Given the description of an element on the screen output the (x, y) to click on. 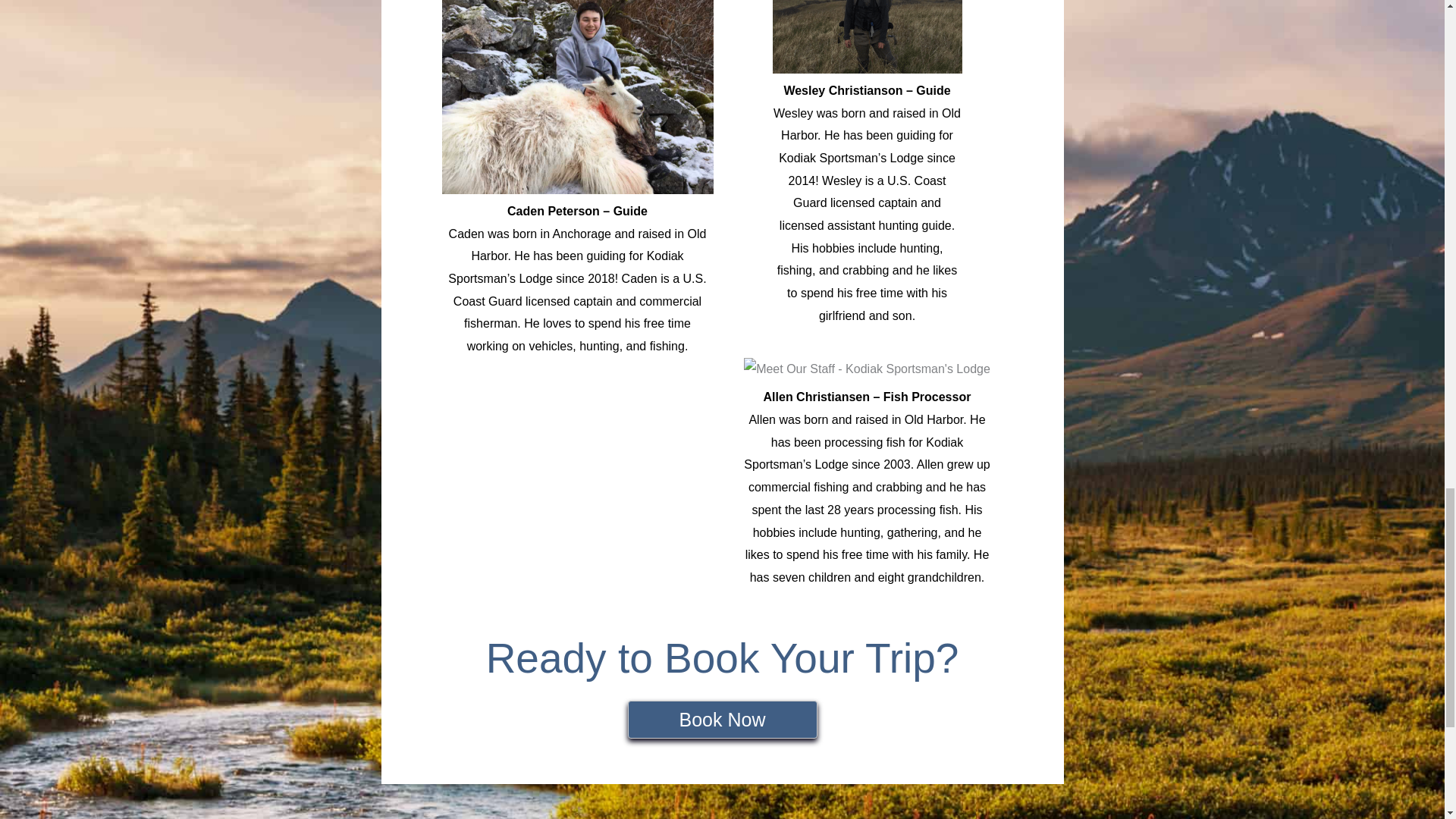
Book Now (721, 719)
